Given the description of an element on the screen output the (x, y) to click on. 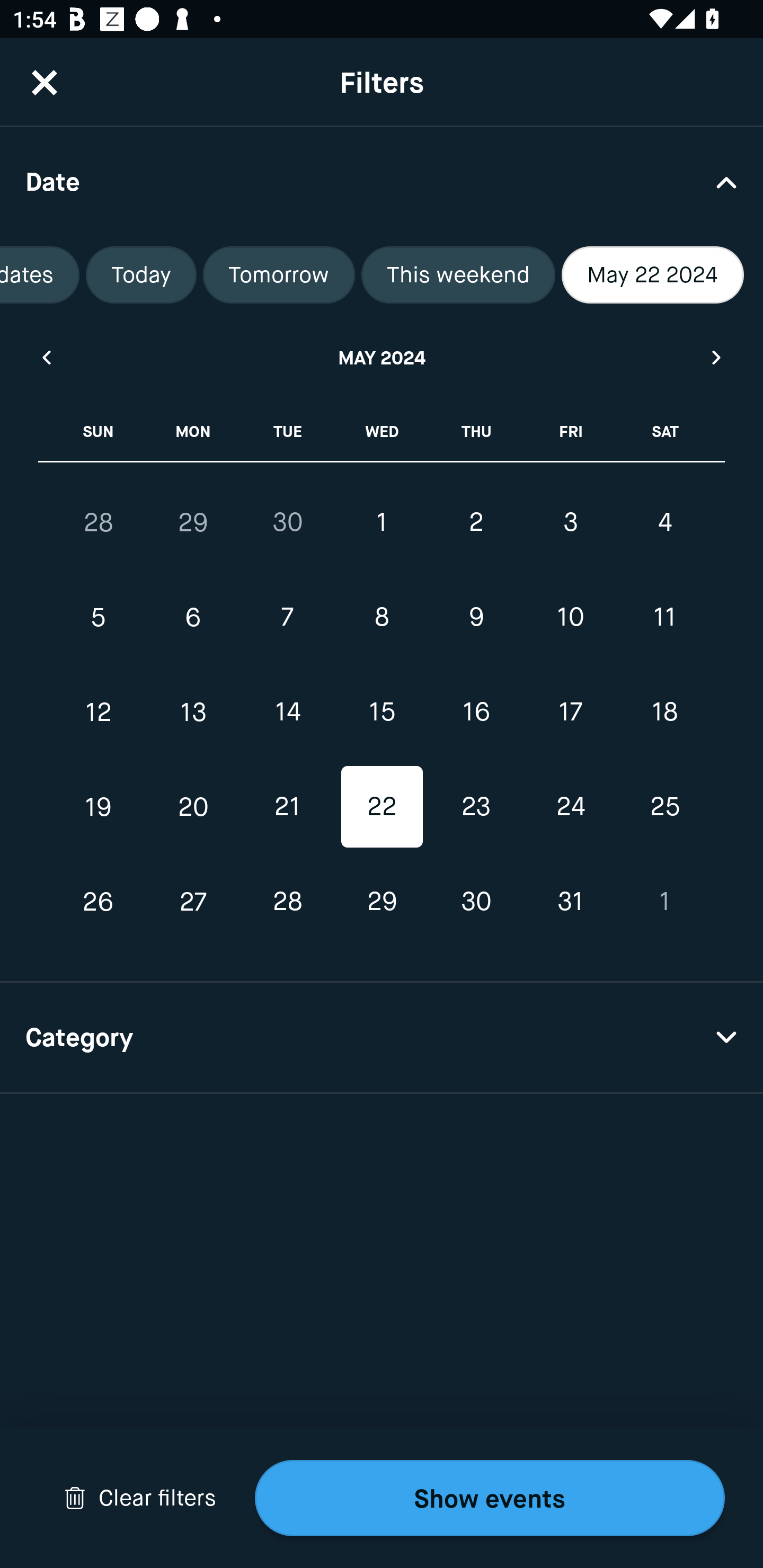
CloseButton (44, 82)
Date Drop Down Arrow (381, 181)
Today (140, 274)
Tomorrow (278, 274)
This weekend (458, 274)
May 22 2024 (652, 274)
Previous (45, 357)
Next (717, 357)
28 (98, 522)
29 (192, 522)
30 (287, 522)
1 (381, 522)
2 (475, 522)
3 (570, 522)
4 (664, 522)
5 (98, 617)
6 (192, 617)
7 (287, 617)
8 (381, 617)
9 (475, 617)
10 (570, 617)
11 (664, 617)
12 (98, 711)
13 (192, 711)
14 (287, 711)
15 (381, 711)
16 (475, 711)
17 (570, 711)
18 (664, 711)
19 (98, 806)
20 (192, 806)
21 (287, 806)
22 (381, 806)
23 (475, 806)
24 (570, 806)
25 (664, 806)
26 (98, 901)
27 (192, 901)
28 (287, 901)
29 (381, 901)
30 (475, 901)
31 (570, 901)
1 (664, 901)
Category Drop Down Arrow (381, 1038)
Drop Down Arrow Clear filters (139, 1497)
Show events (489, 1497)
